Given the description of an element on the screen output the (x, y) to click on. 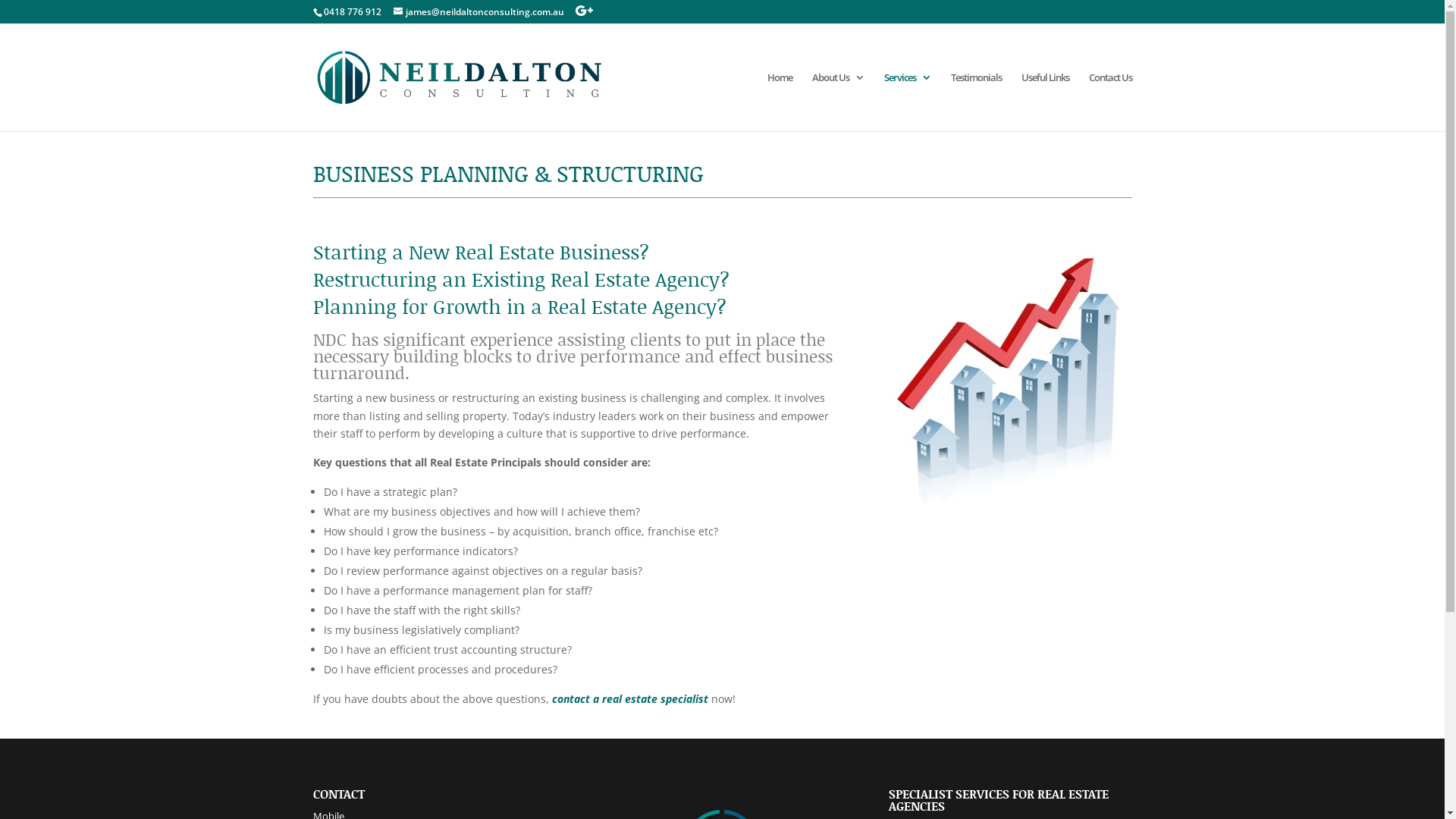
Services Element type: text (907, 101)
Useful Links Element type: text (1044, 101)
Contact Us Element type: text (1110, 101)
Home Element type: text (779, 101)
james@neildaltonconsulting.com.au Element type: text (477, 11)
contact a real estate specialist Element type: text (630, 698)
About Us Element type: text (837, 101)
Testimonials Element type: text (975, 101)
